Given the description of an element on the screen output the (x, y) to click on. 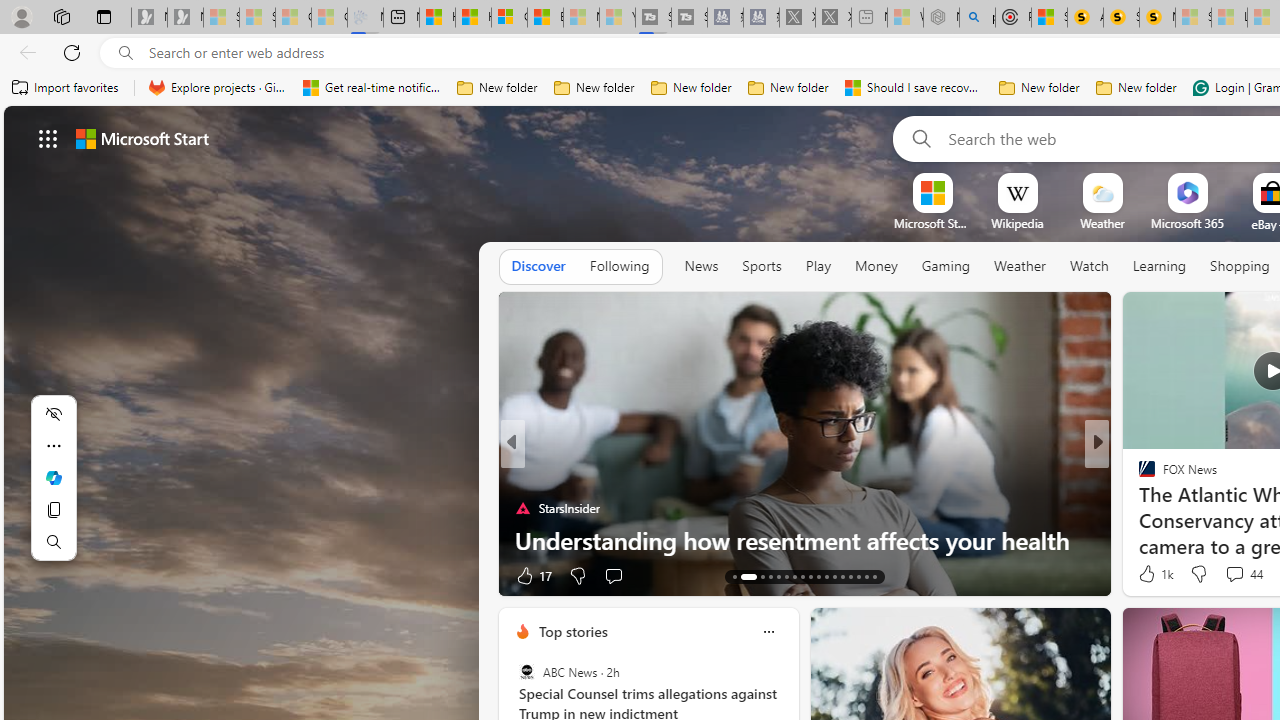
Mini menu on text selection (53, 489)
View comments 2 Comment (1229, 575)
More options (768, 631)
Nordace.com (1165, 507)
Woman's World (1138, 475)
Play (817, 265)
Play (818, 267)
AutomationID: tab-15 (756, 576)
AutomationID: tab-16 (769, 576)
186 Like (1151, 574)
AutomationID: tab-18 (786, 576)
